Given the description of an element on the screen output the (x, y) to click on. 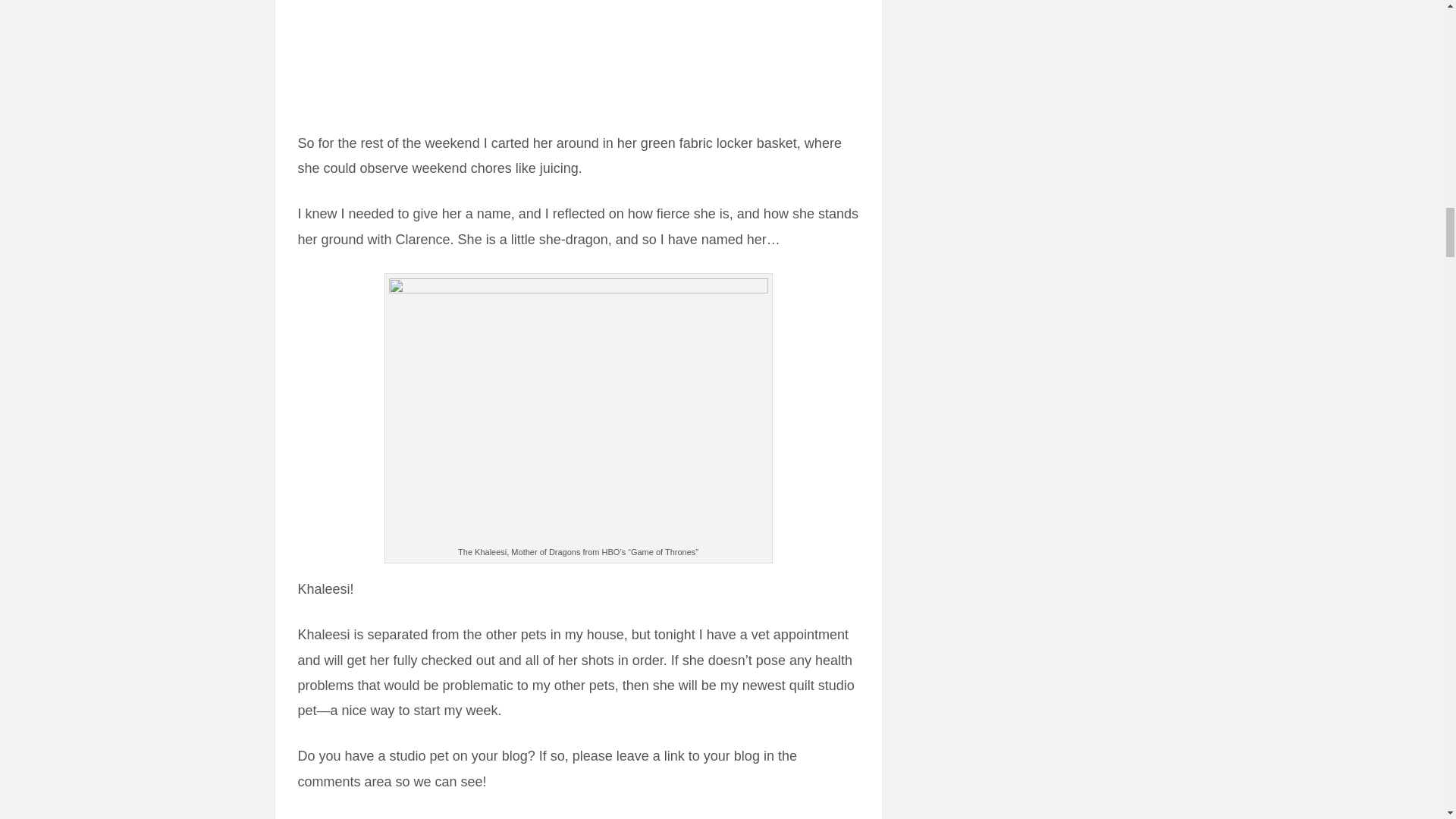
The Khaleesi, Mother of Dragons from HBO's "Game of Thrones" (577, 410)
juicing (577, 55)
